Given the description of an element on the screen output the (x, y) to click on. 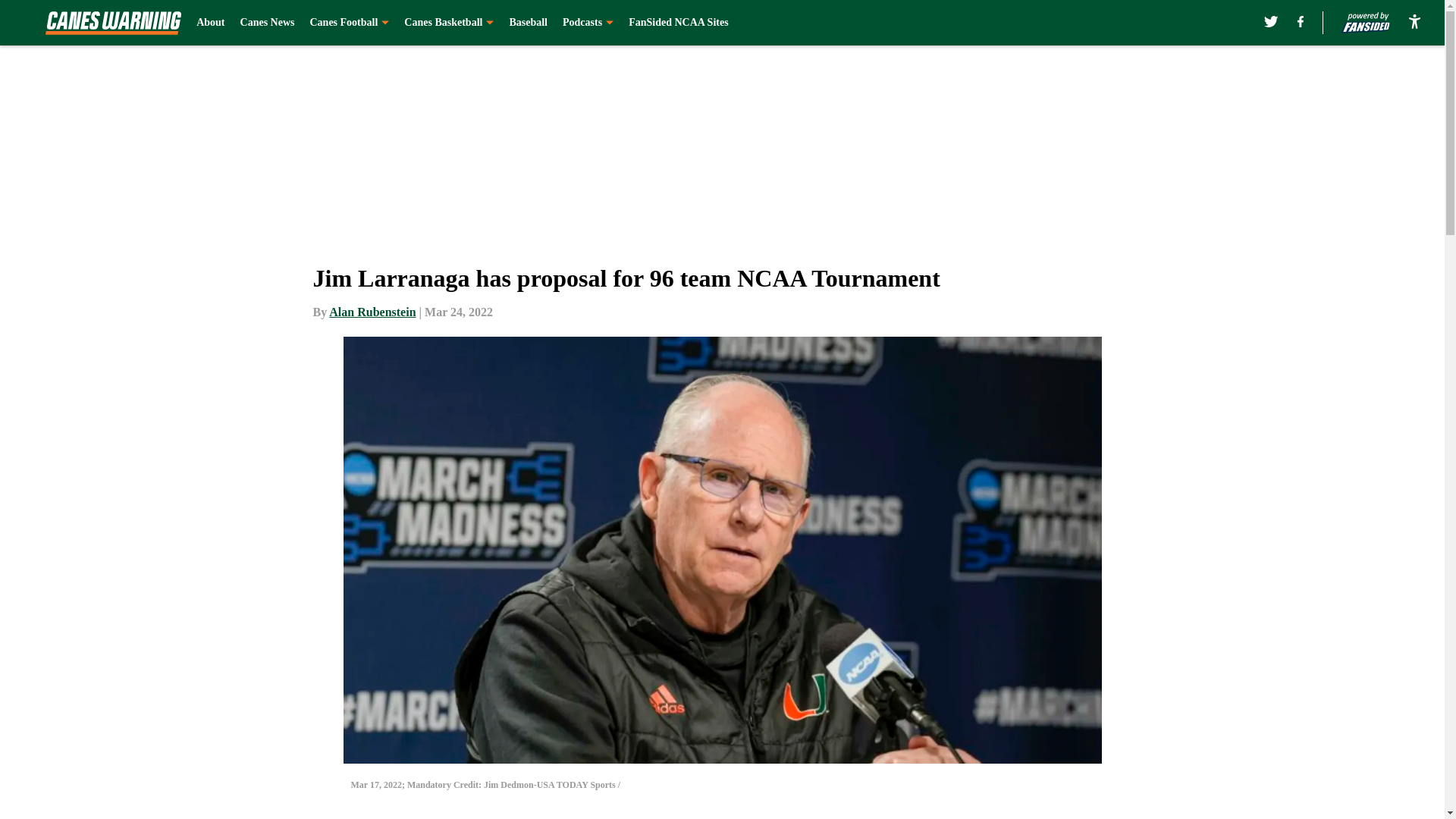
FanSided NCAA Sites (678, 22)
Alan Rubenstein (371, 311)
Baseball (527, 22)
About (210, 22)
Canes News (267, 22)
